Given the description of an element on the screen output the (x, y) to click on. 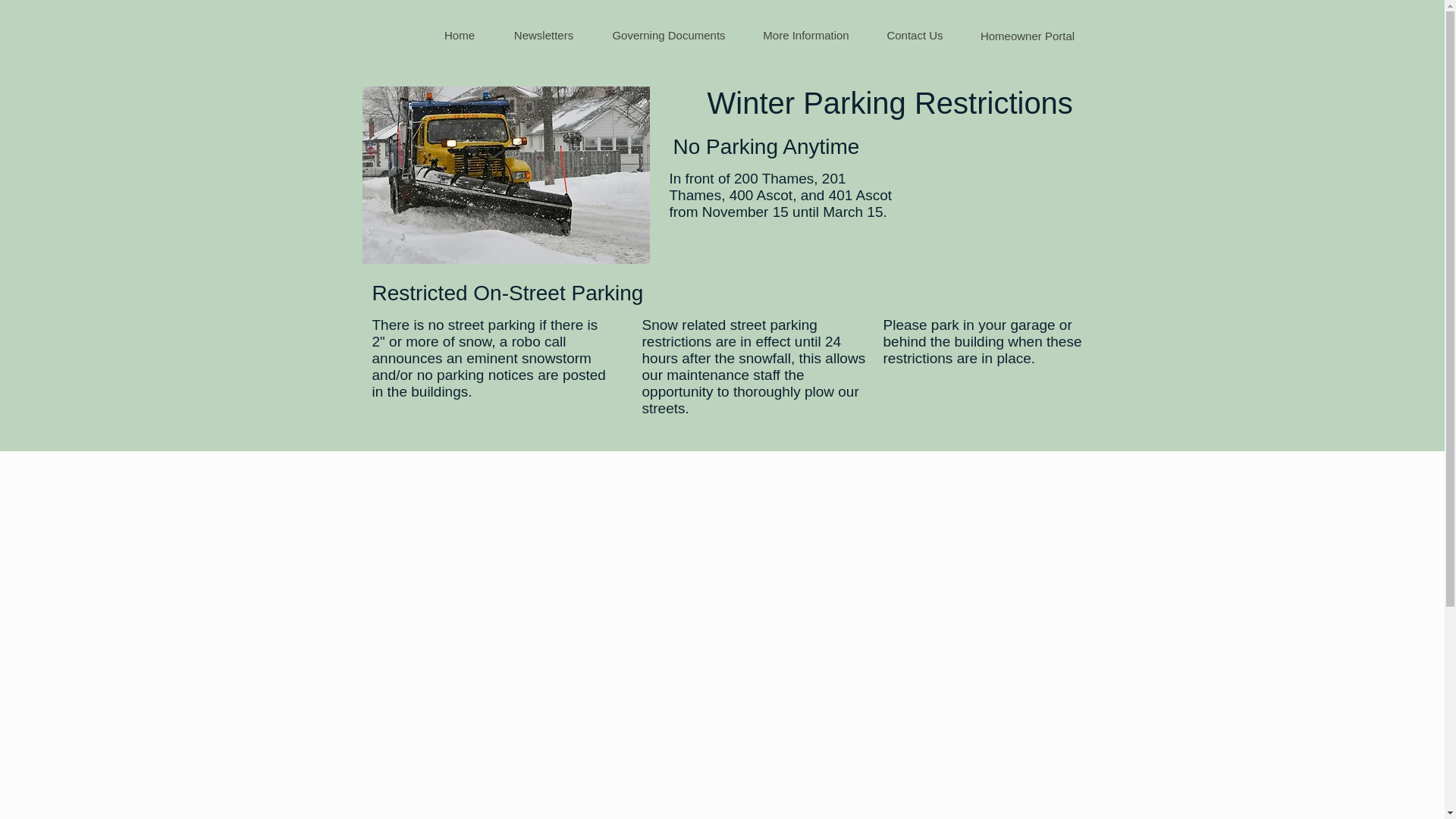
Contact Us (914, 35)
snowplowing.jpg (505, 174)
Governing Documents (668, 35)
Home (459, 35)
Newsletters (543, 35)
Homeowner Portal (1026, 35)
More Information (805, 35)
